Given the description of an element on the screen output the (x, y) to click on. 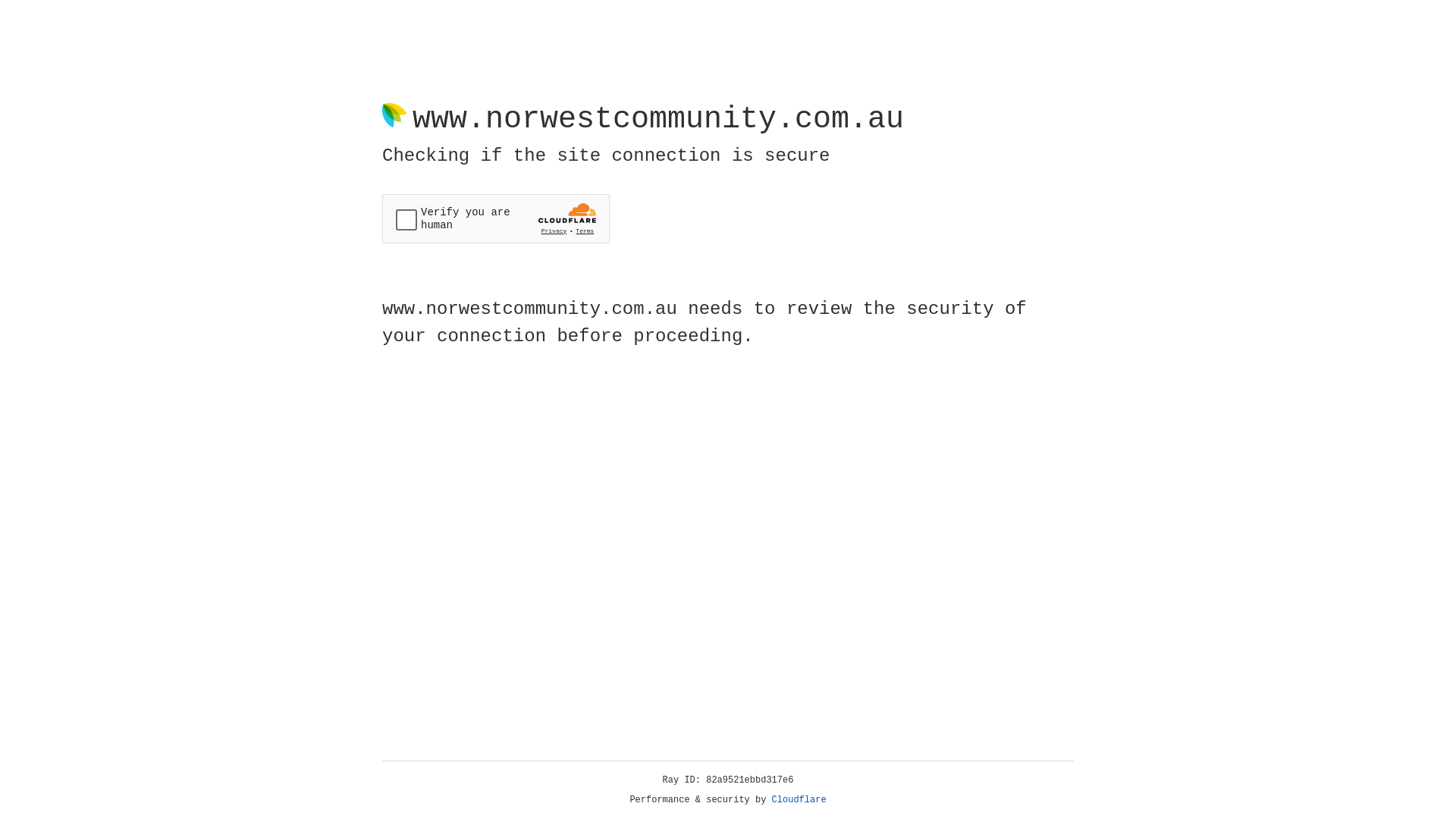
Cloudflare Element type: text (798, 799)
Widget containing a Cloudflare security challenge Element type: hover (495, 218)
